Given the description of an element on the screen output the (x, y) to click on. 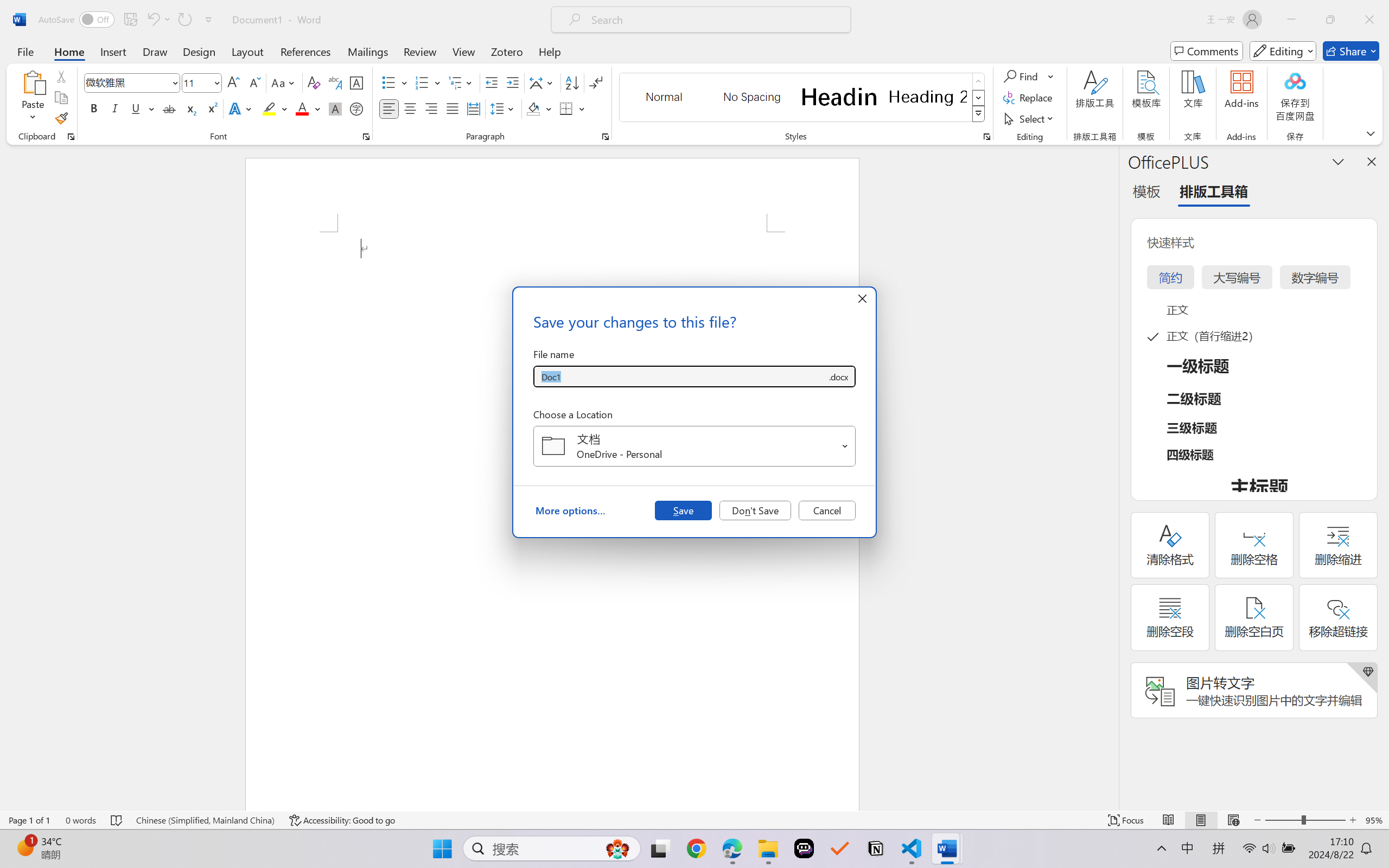
Google Chrome (696, 848)
Undo <ApplyStyleToDoc>b__0 (152, 19)
